Given the description of an element on the screen output the (x, y) to click on. 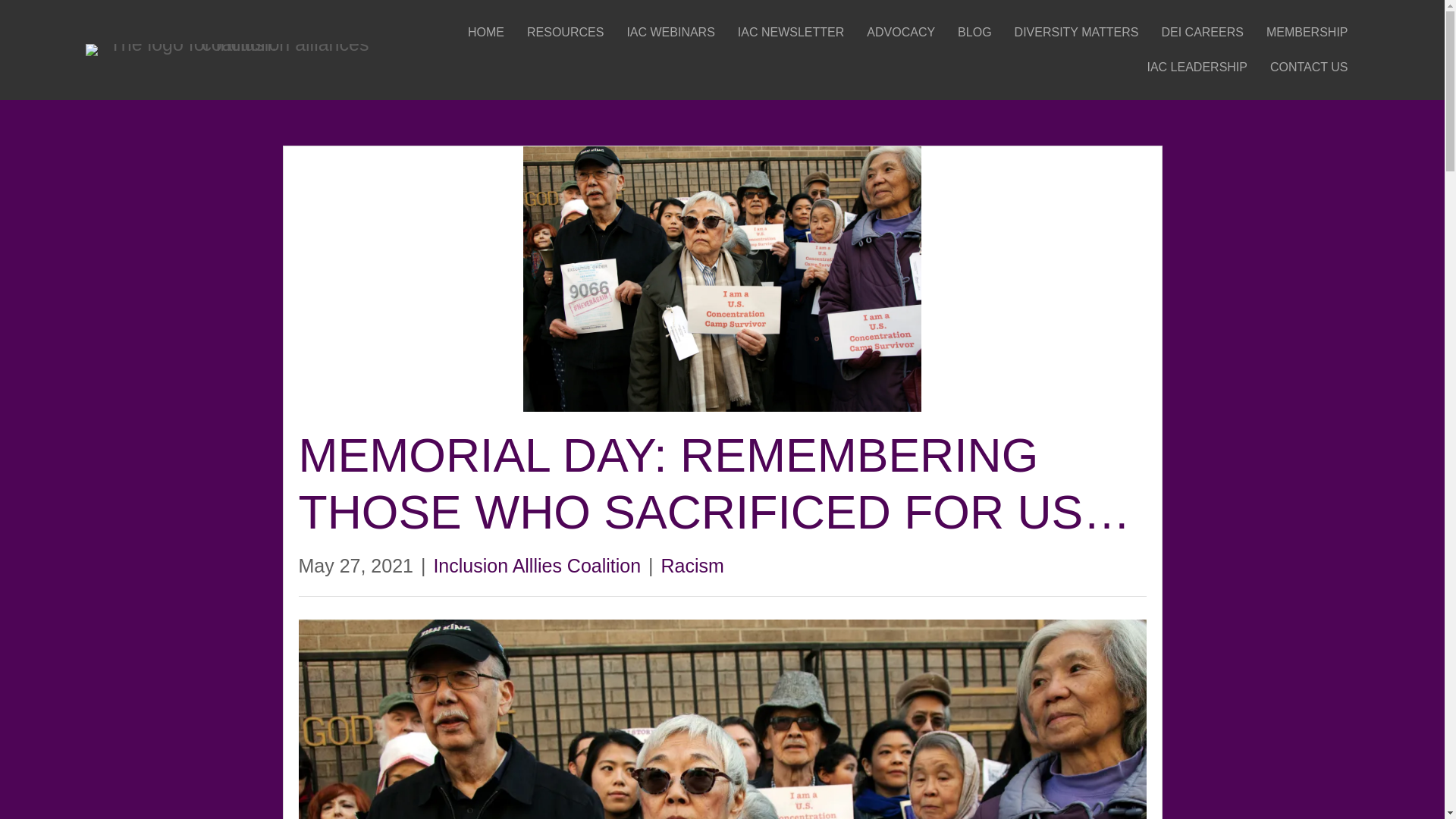
DIVERSITY MATTERS (1077, 31)
ADVOCACY (900, 31)
MEMBERSHIP (1307, 31)
IAC logo white with text (232, 50)
HOME (486, 31)
IAC LEADERSHIP (1195, 67)
IAC NEWSLETTER (790, 31)
BLOG (974, 31)
CONTACT US (1308, 67)
DEI CAREERS (1201, 31)
Racism (692, 565)
RESOURCES (565, 31)
Inclusion Alllies Coalition (536, 565)
IAC WEBINARS (670, 31)
